Given the description of an element on the screen output the (x, y) to click on. 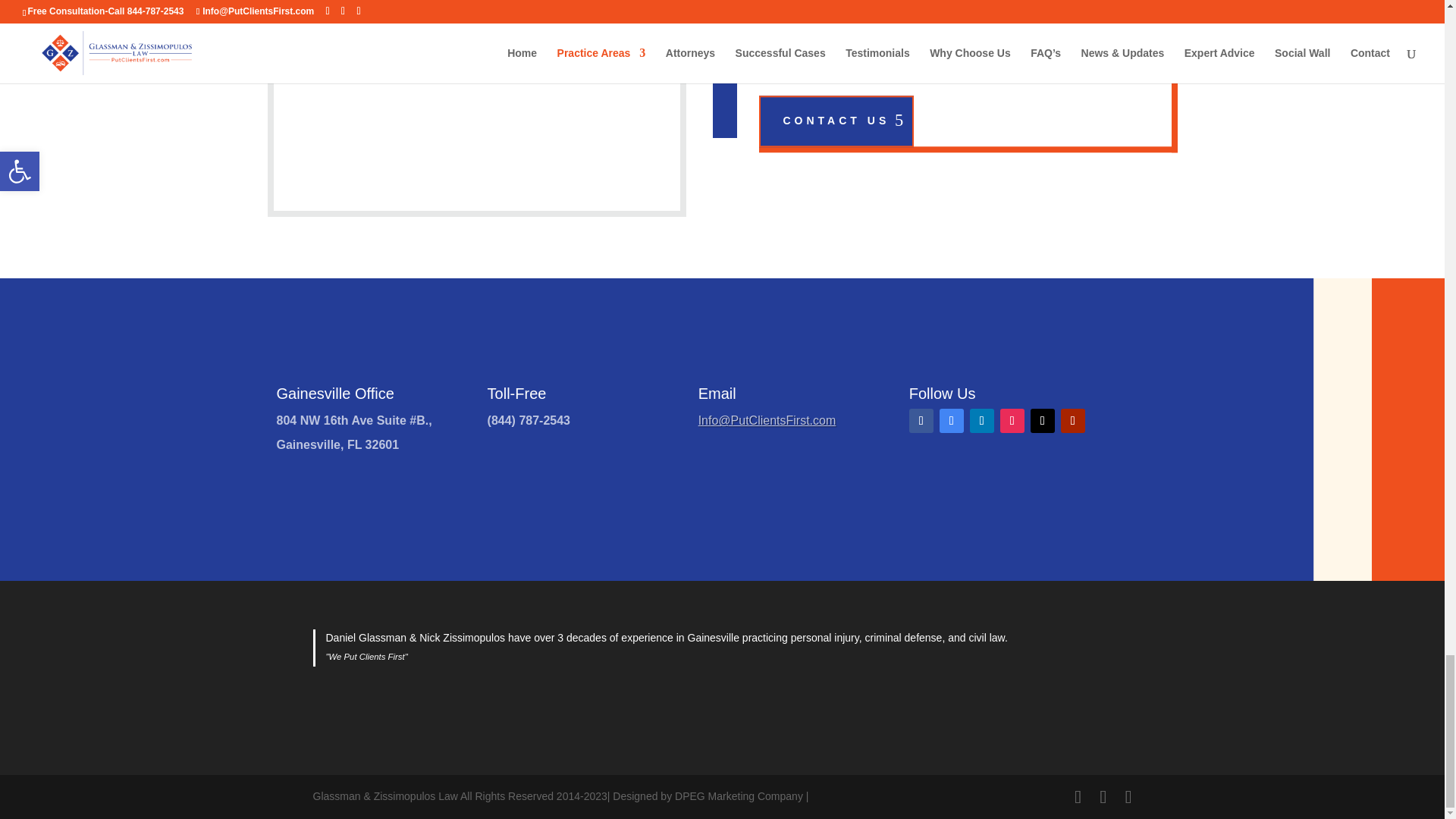
Follow on X (1042, 420)
Follow on Facebook (920, 420)
Follow on LinkedIn (981, 420)
Follow on Instagram (1012, 420)
Follow on Youtube (1072, 420)
Follow on Google (951, 420)
Put Clients First 3 (502, 69)
